Given the description of an element on the screen output the (x, y) to click on. 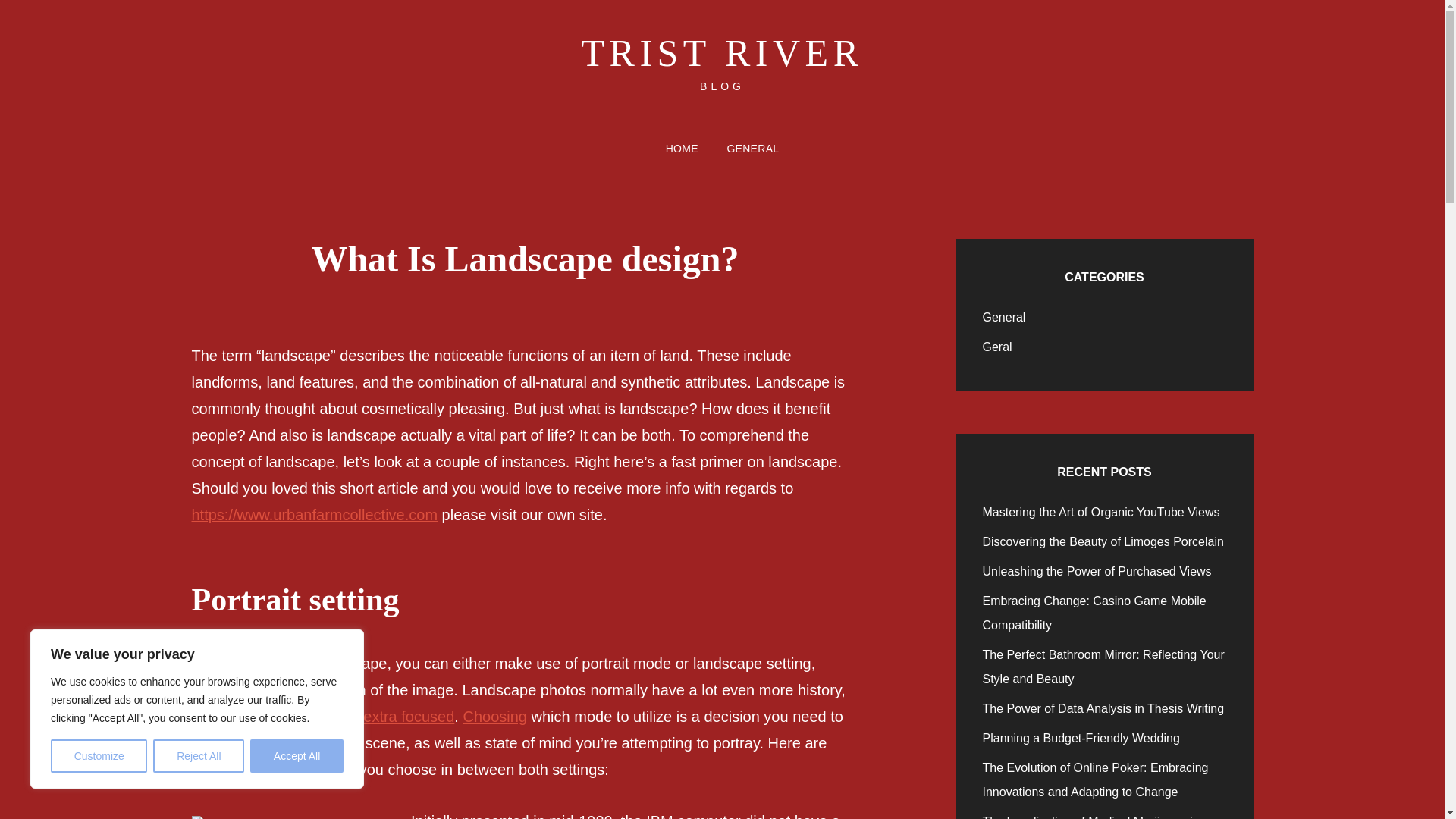
General (1004, 317)
Discovering the Beauty of Limoges Porcelain (1103, 541)
Embracing Change: Casino Game Mobile Compatibility (1094, 612)
Choosing (495, 716)
Unleashing the Power of Purchased Views (1096, 571)
Geral (996, 346)
extra focused (408, 716)
The Power of Data Analysis in Thesis Writing (1103, 707)
Mastering the Art of Organic YouTube Views (1101, 512)
TRIST RIVER (721, 52)
HOME (681, 148)
Reject All (198, 756)
Planning a Budget-Friendly Wedding (1080, 738)
Customize (98, 756)
